Given the description of an element on the screen output the (x, y) to click on. 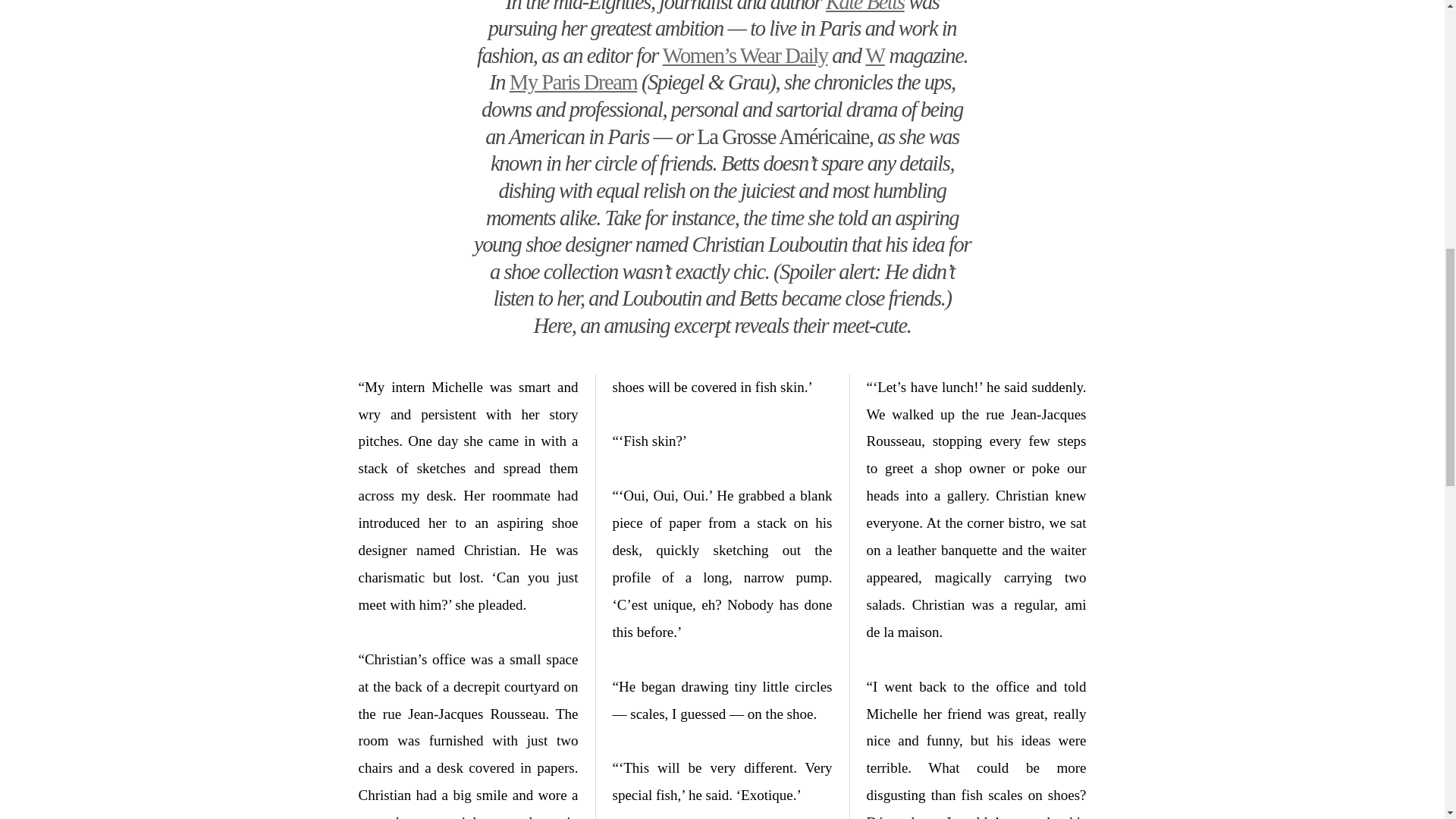
My Paris Dream (573, 82)
Kate Betts (864, 6)
